Given the description of an element on the screen output the (x, y) to click on. 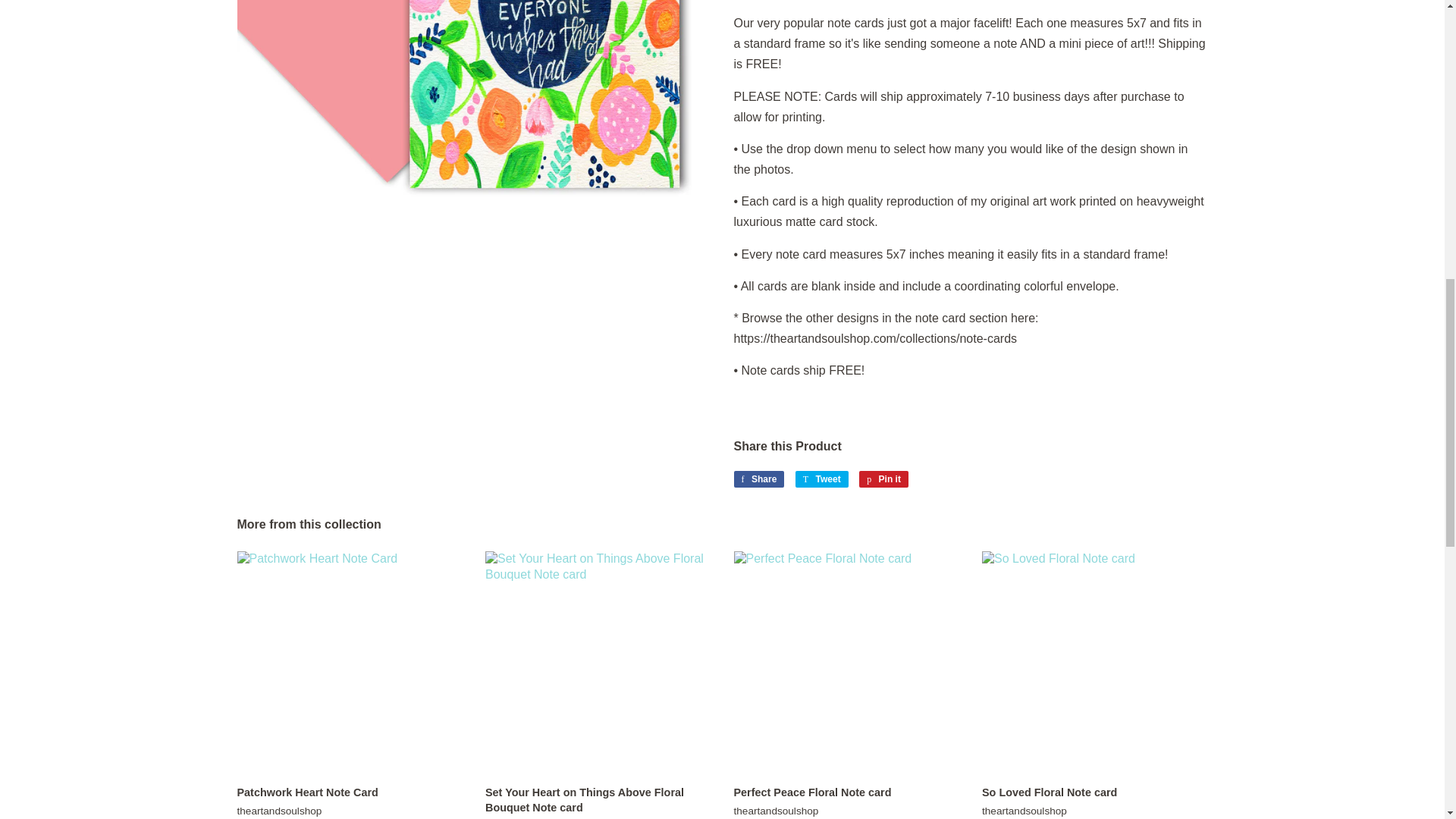
Tweet on Twitter (821, 478)
Share on Facebook (758, 478)
Pin on Pinterest (883, 478)
